Given the description of an element on the screen output the (x, y) to click on. 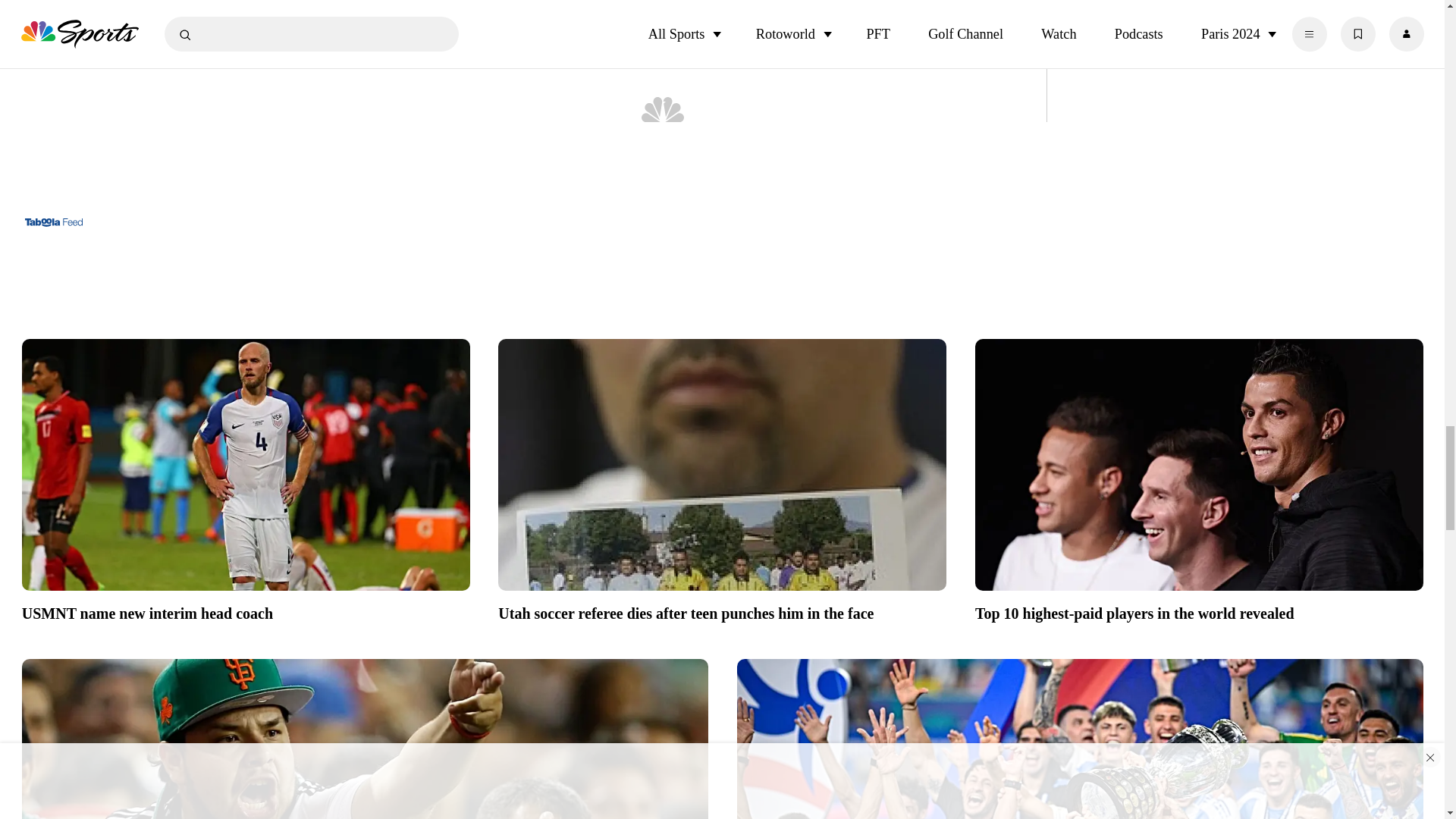
Utah soccer referee dies after teen punches him in the face (721, 464)
USMNT name new interim head coach (245, 464)
USMNT name new interim head coach (245, 610)
Top 10 highest-paid players in the world revealed (1199, 610)
Top 10 highest-paid players in the world revealed (1199, 464)
Utah soccer referee dies after teen punches him in the face (721, 610)
